Given the description of an element on the screen output the (x, y) to click on. 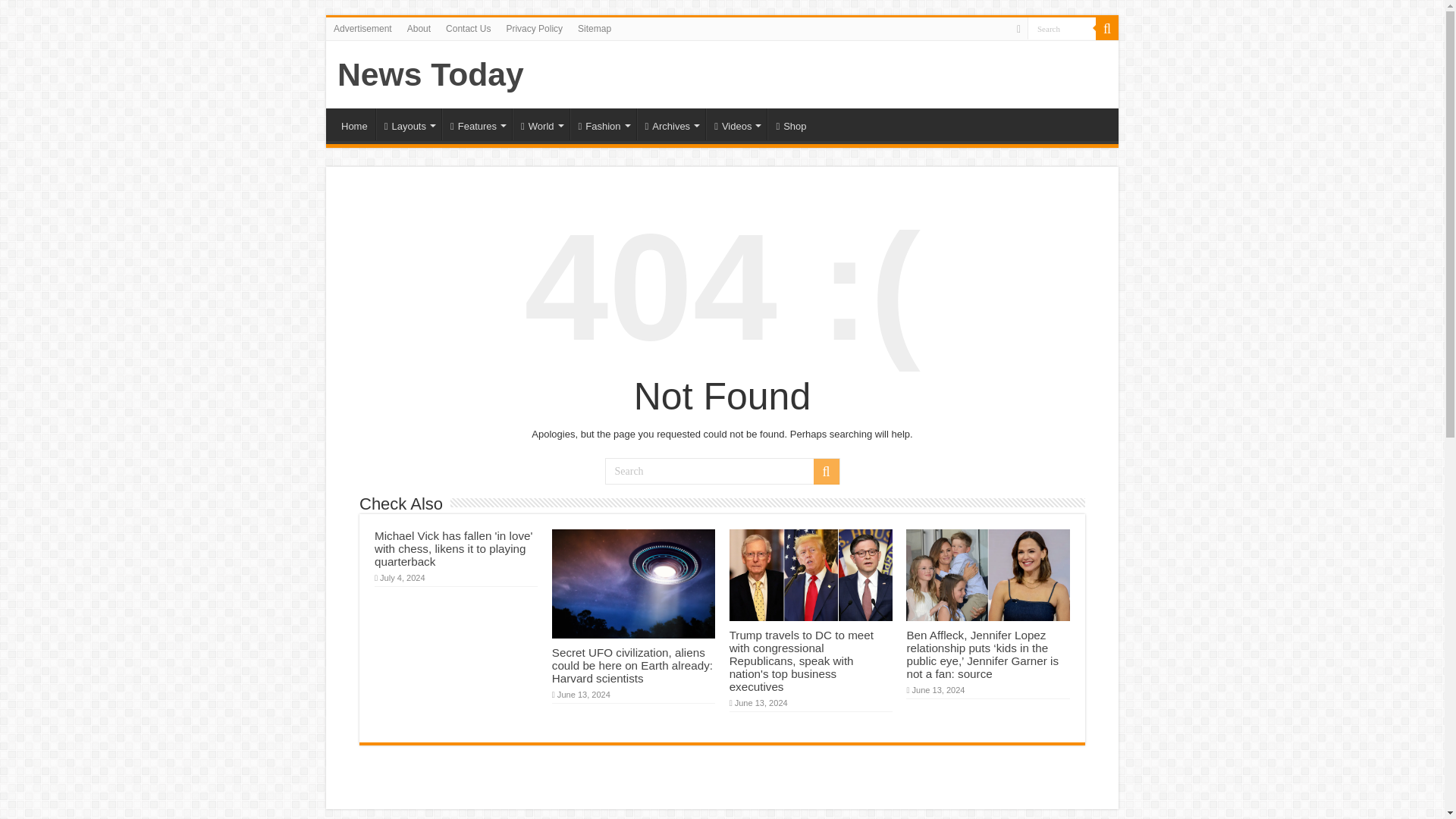
Search (722, 470)
Search (1061, 28)
Search (1061, 28)
Search (1061, 28)
